Given the description of an element on the screen output the (x, y) to click on. 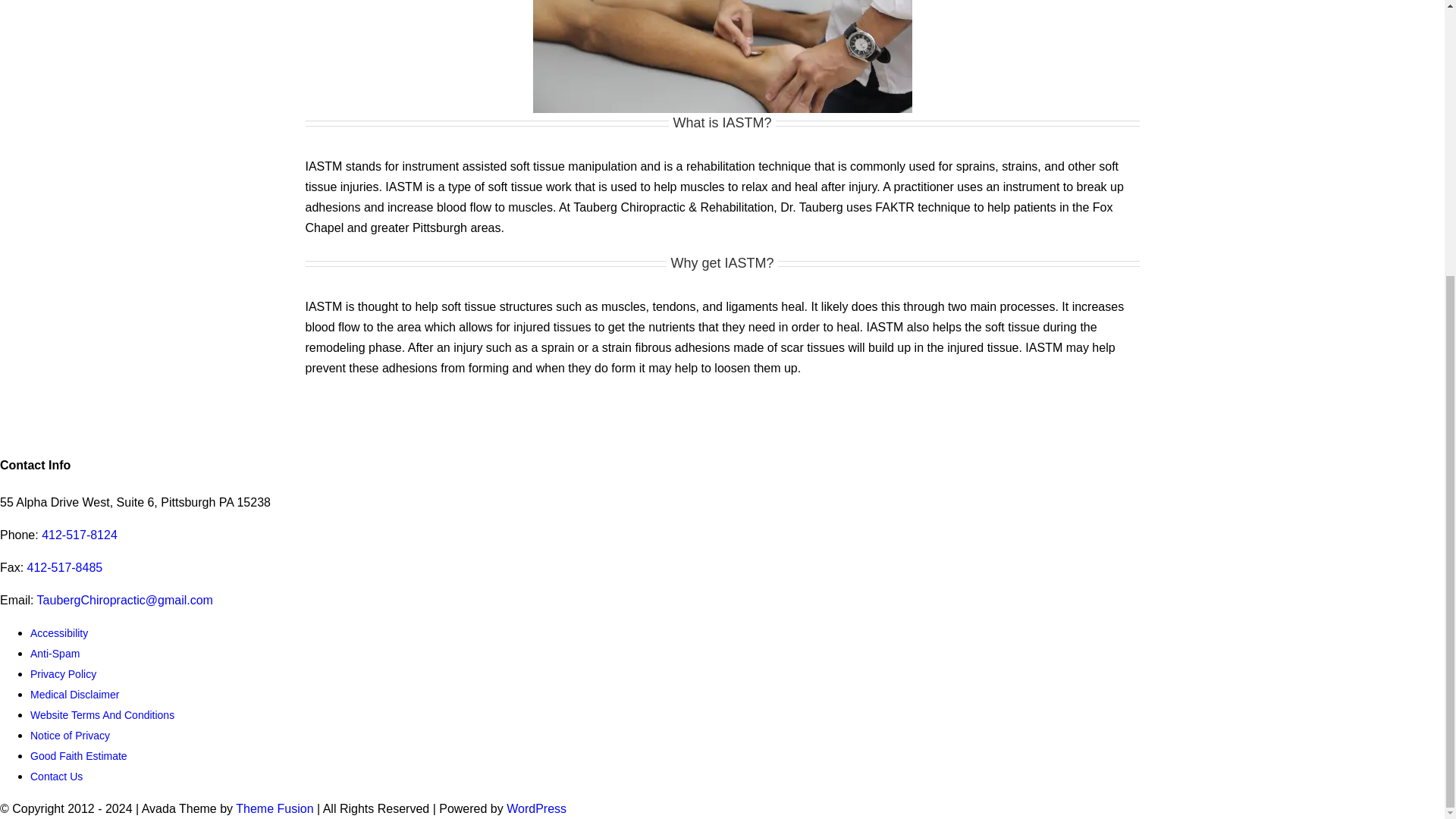
myofascial release performed ona persons calf (721, 56)
